Given the description of an element on the screen output the (x, y) to click on. 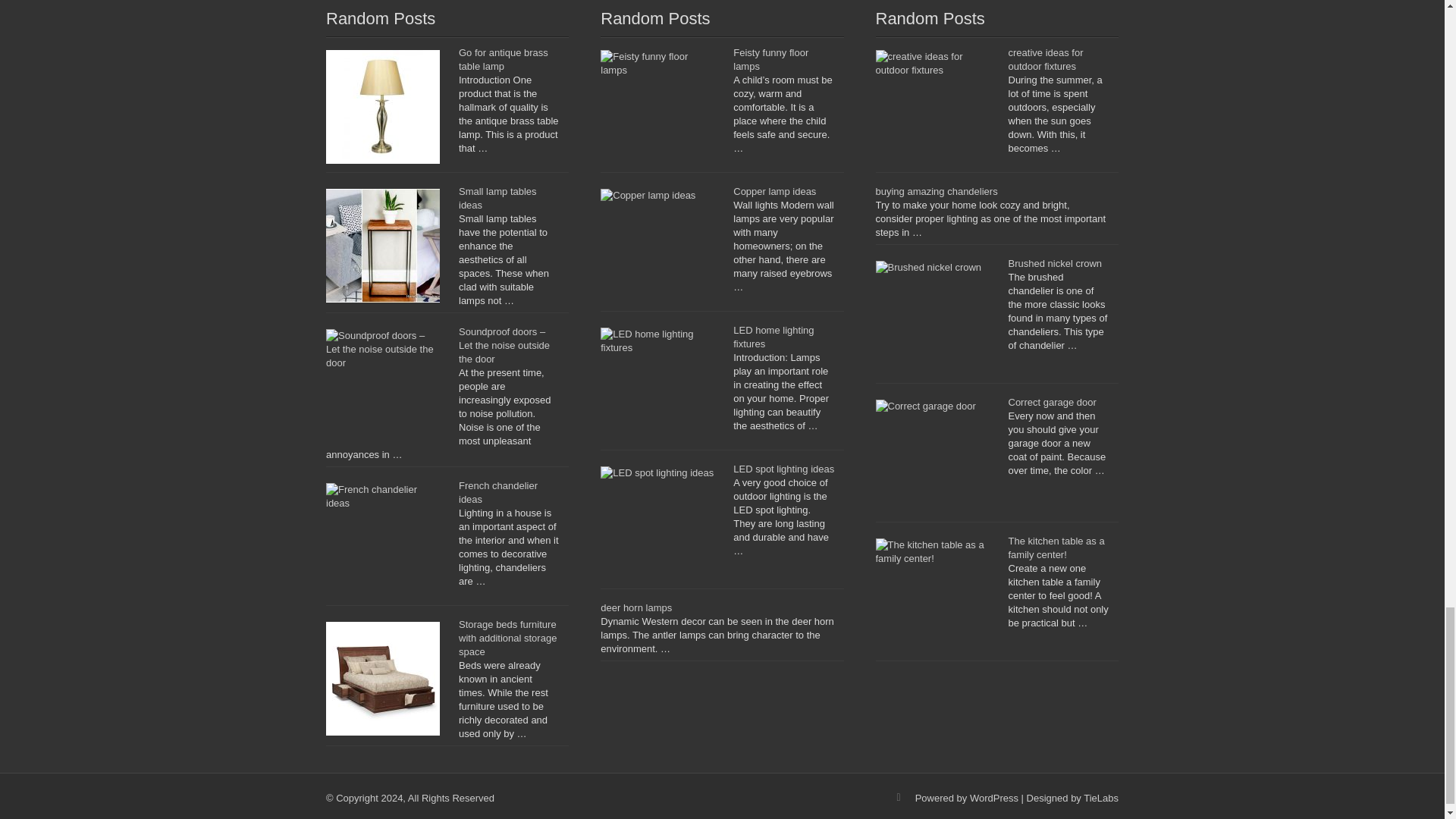
Small lamp tables ideas (497, 197)
Feisty funny floor lamps (770, 59)
LED spot lighting ideas (783, 469)
LED home lighting fixtures (773, 336)
Go for antique brass table lamp (503, 59)
Storage beds furniture with additional storage space (507, 638)
Copper lamp ideas (774, 191)
deer horn lamps (635, 607)
French chandelier ideas (497, 492)
creative ideas for outdoor fixtures (1046, 59)
buying amazing chandeliers (936, 191)
